Given the description of an element on the screen output the (x, y) to click on. 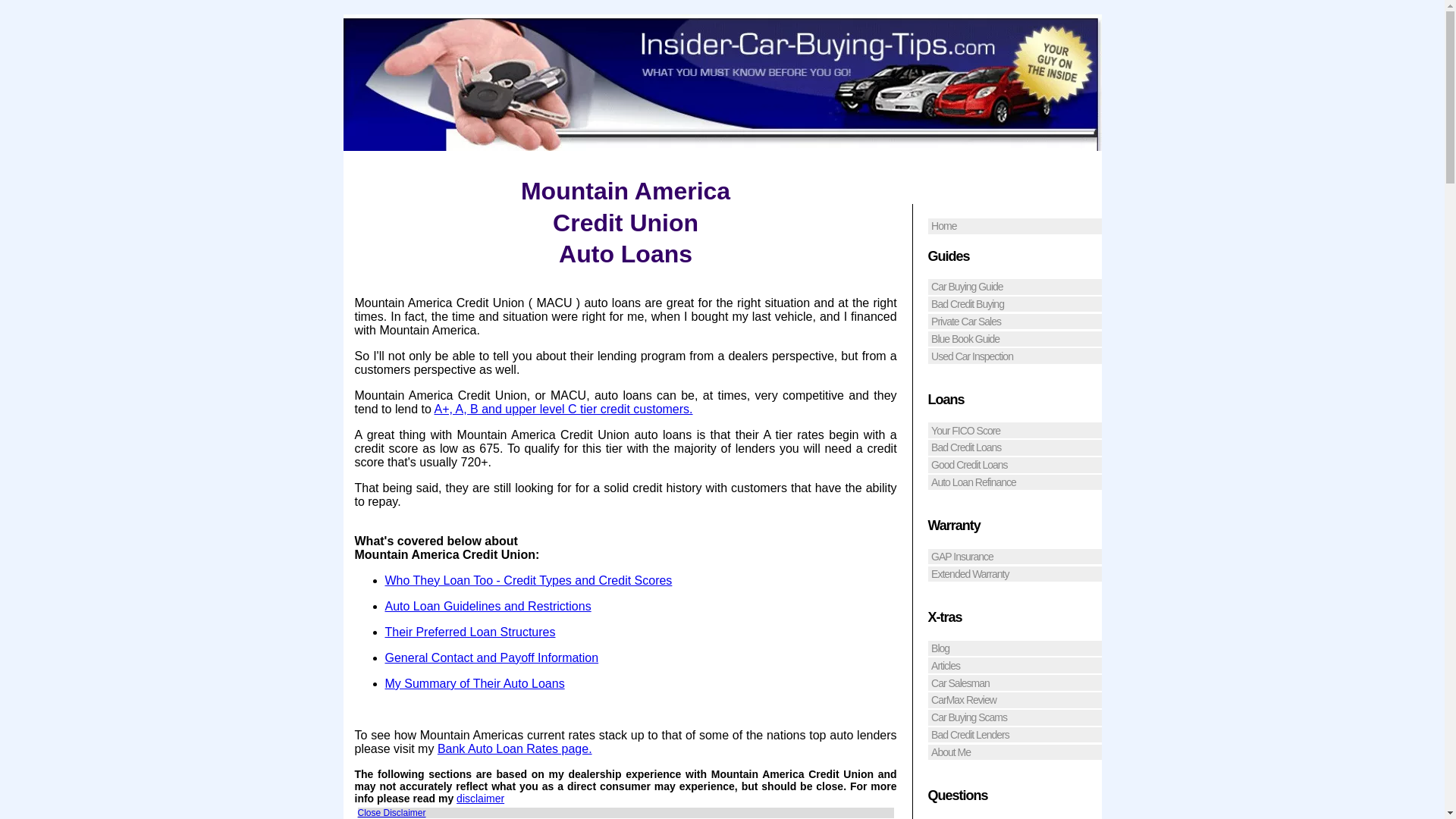
Auto Loan Guidelines and Restrictions (488, 605)
Their Preferred Loan Structures (470, 631)
Good Credit Loans (1015, 465)
Private Car Sales (1015, 321)
Extended Warranty (1015, 574)
Who They Loan Too - Credit Types and Credit Scores (528, 580)
Auto Loan Refinance (1015, 482)
Bad Credit Buying (1015, 304)
Used Car Inspection (1015, 355)
My Summary of Their Auto Loans (474, 683)
